Given the description of an element on the screen output the (x, y) to click on. 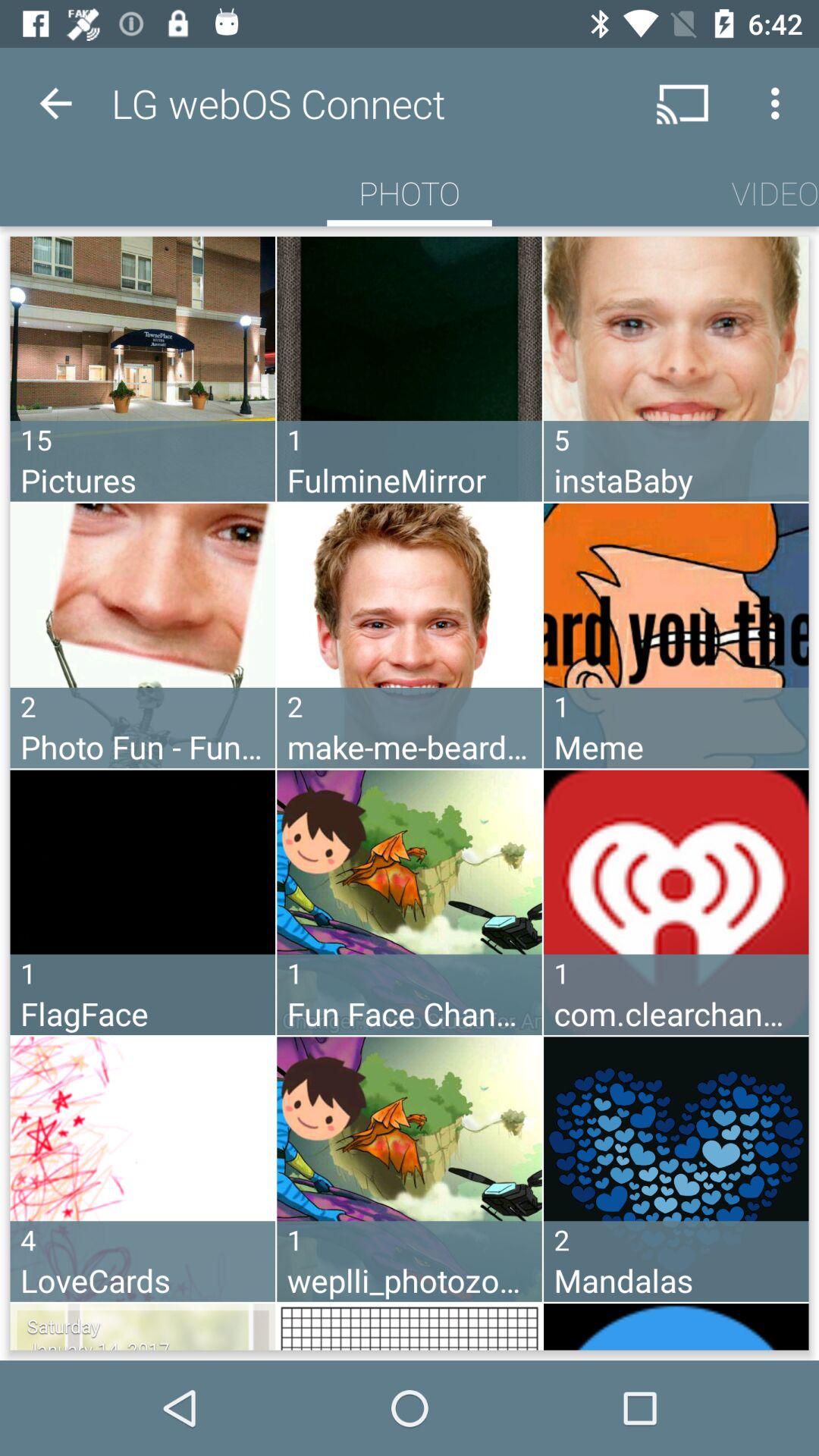
choose the icon next to the lg webos connect item (55, 103)
